Given the description of an element on the screen output the (x, y) to click on. 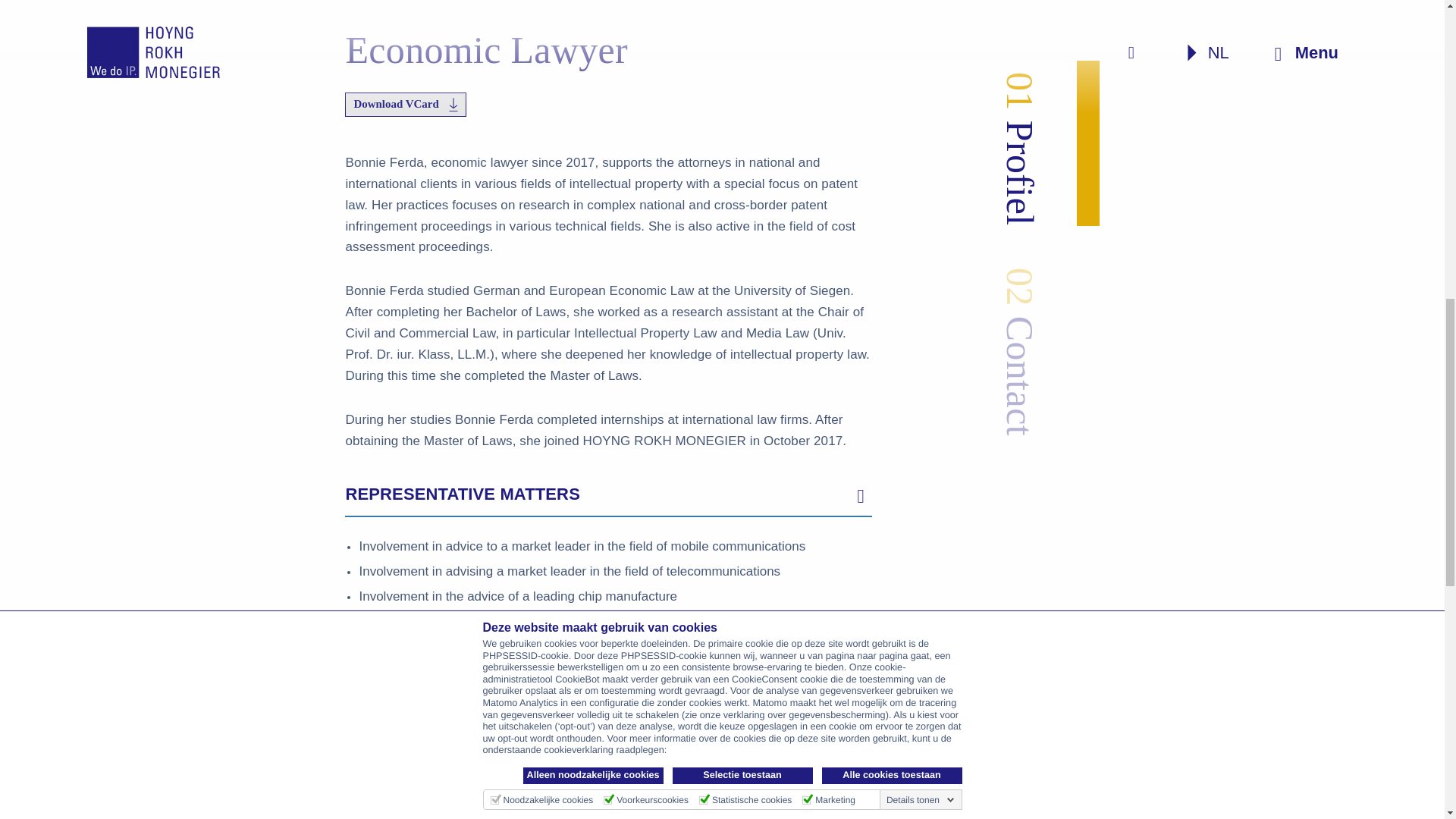
Download VCard (405, 104)
